Given the description of an element on the screen output the (x, y) to click on. 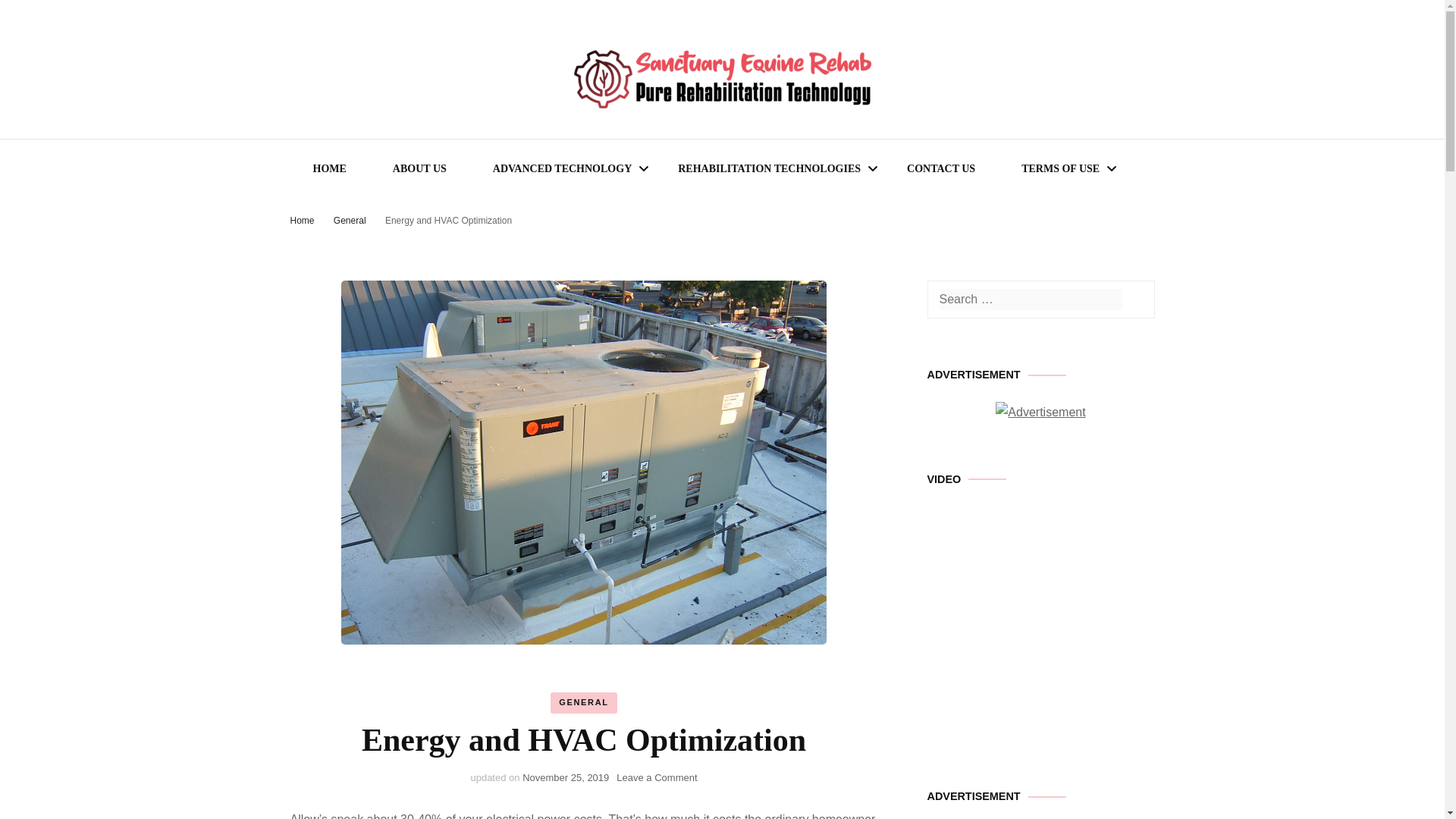
HOME (328, 169)
ABOUT US (656, 777)
November 25, 2019 (418, 169)
CONTACT US (565, 777)
Search (940, 169)
Home (1134, 299)
General (301, 220)
REHABILITATION TECHNOLOGIES (350, 220)
GENERAL (769, 169)
Search (582, 702)
Motion Analysis (1134, 299)
ADVANCED TECHNOLOGY (738, 235)
TERMS OF USE (561, 169)
Privacy Policy (1060, 169)
